Given the description of an element on the screen output the (x, y) to click on. 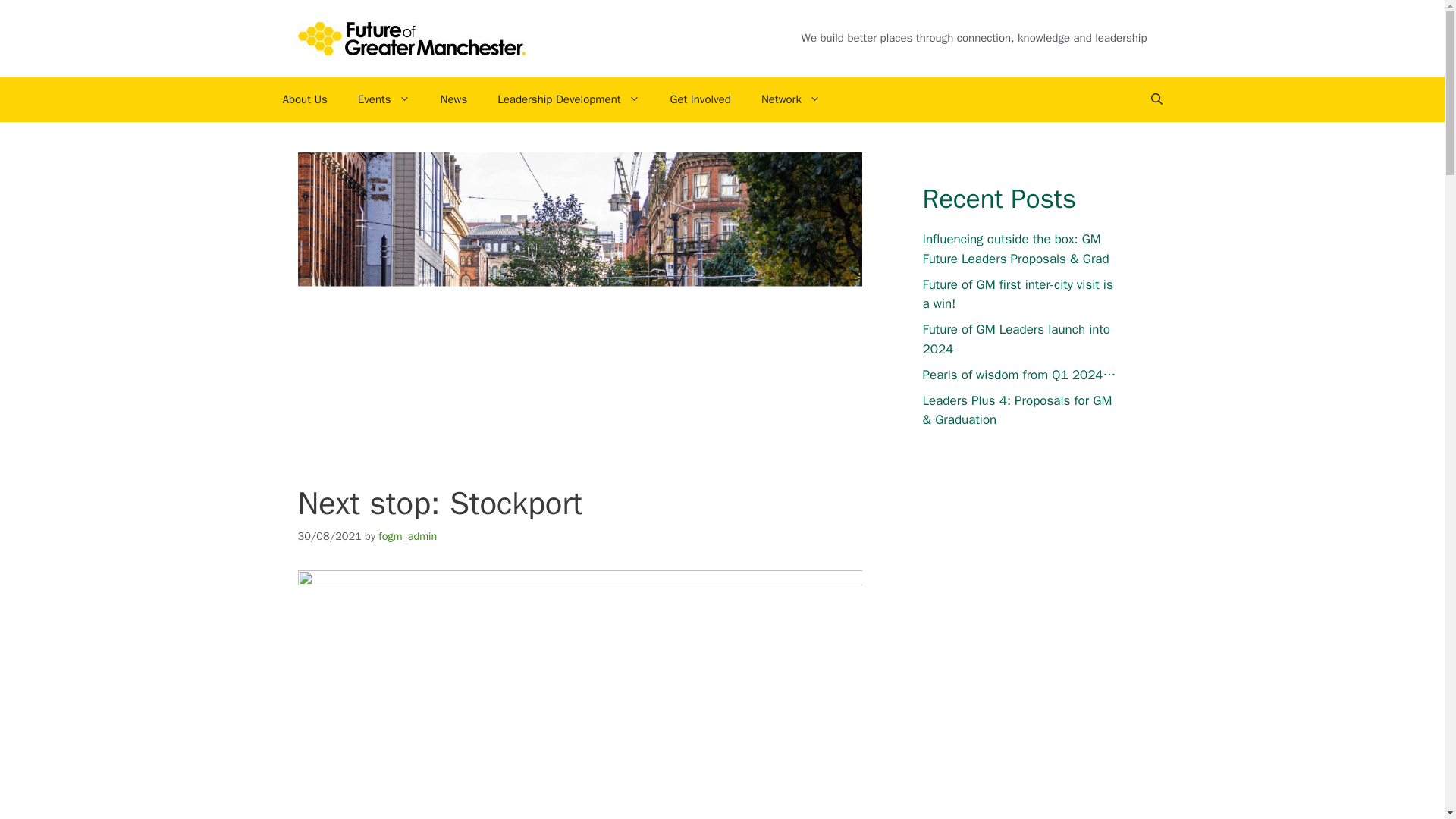
About Us (304, 99)
Leadership Development (567, 99)
News (454, 99)
Events (383, 99)
Network (790, 99)
Get Involved (700, 99)
